Given the description of an element on the screen output the (x, y) to click on. 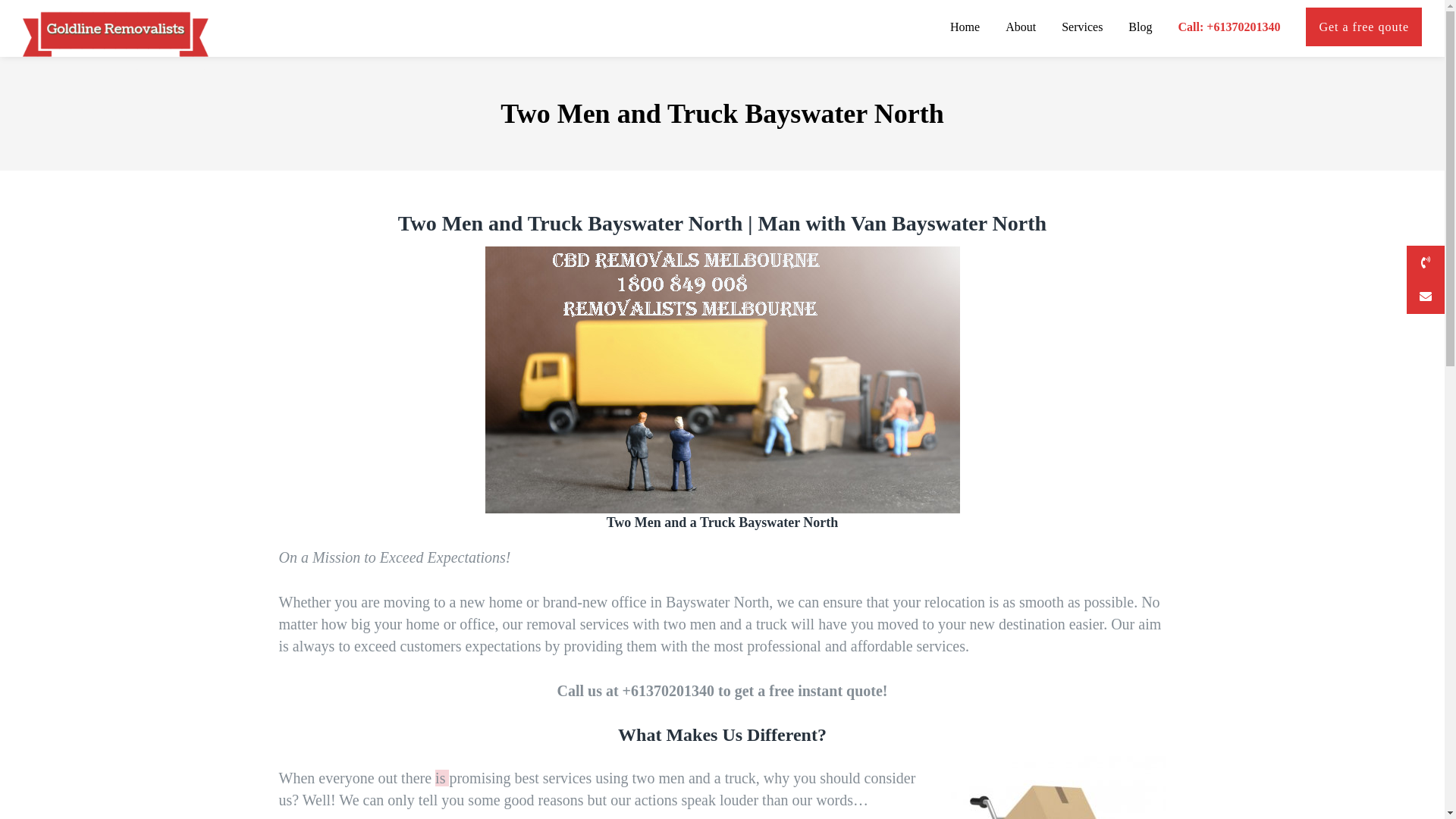
About Element type: text (1020, 28)
Call: +61370201340 Element type: text (1228, 28)
Get a free qoute Element type: text (1363, 28)
Blog Element type: text (1140, 28)
Home Element type: text (964, 28)
Services Element type: text (1081, 28)
